Given the description of an element on the screen output the (x, y) to click on. 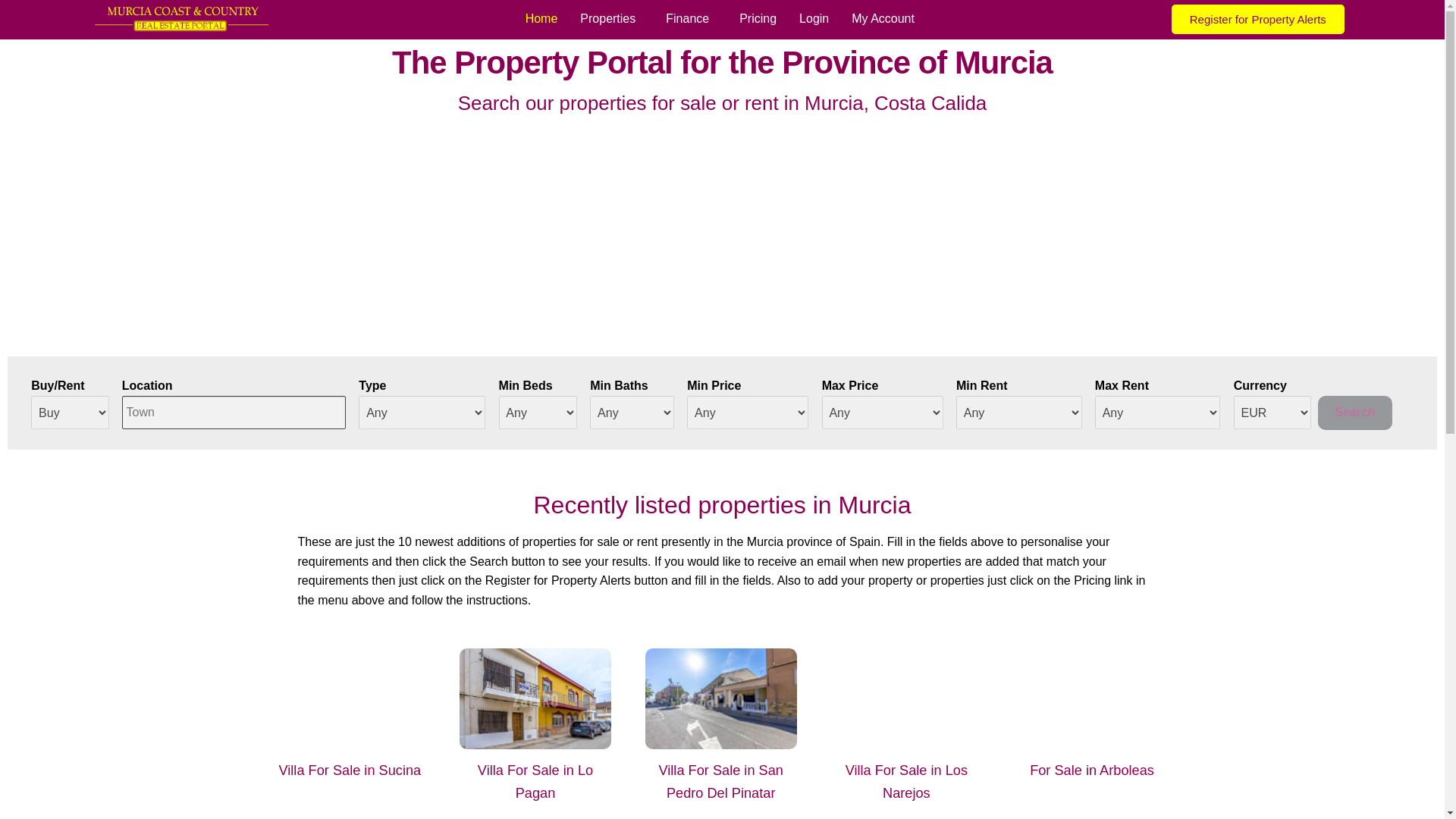
Pricing (757, 18)
Search (1355, 412)
Home (541, 18)
Villa For Sale in Sucina (349, 770)
Properties (611, 18)
Register for Property Alerts (1257, 19)
My Account (883, 18)
Search (1355, 412)
Login (813, 18)
Finance (690, 18)
